Given the description of an element on the screen output the (x, y) to click on. 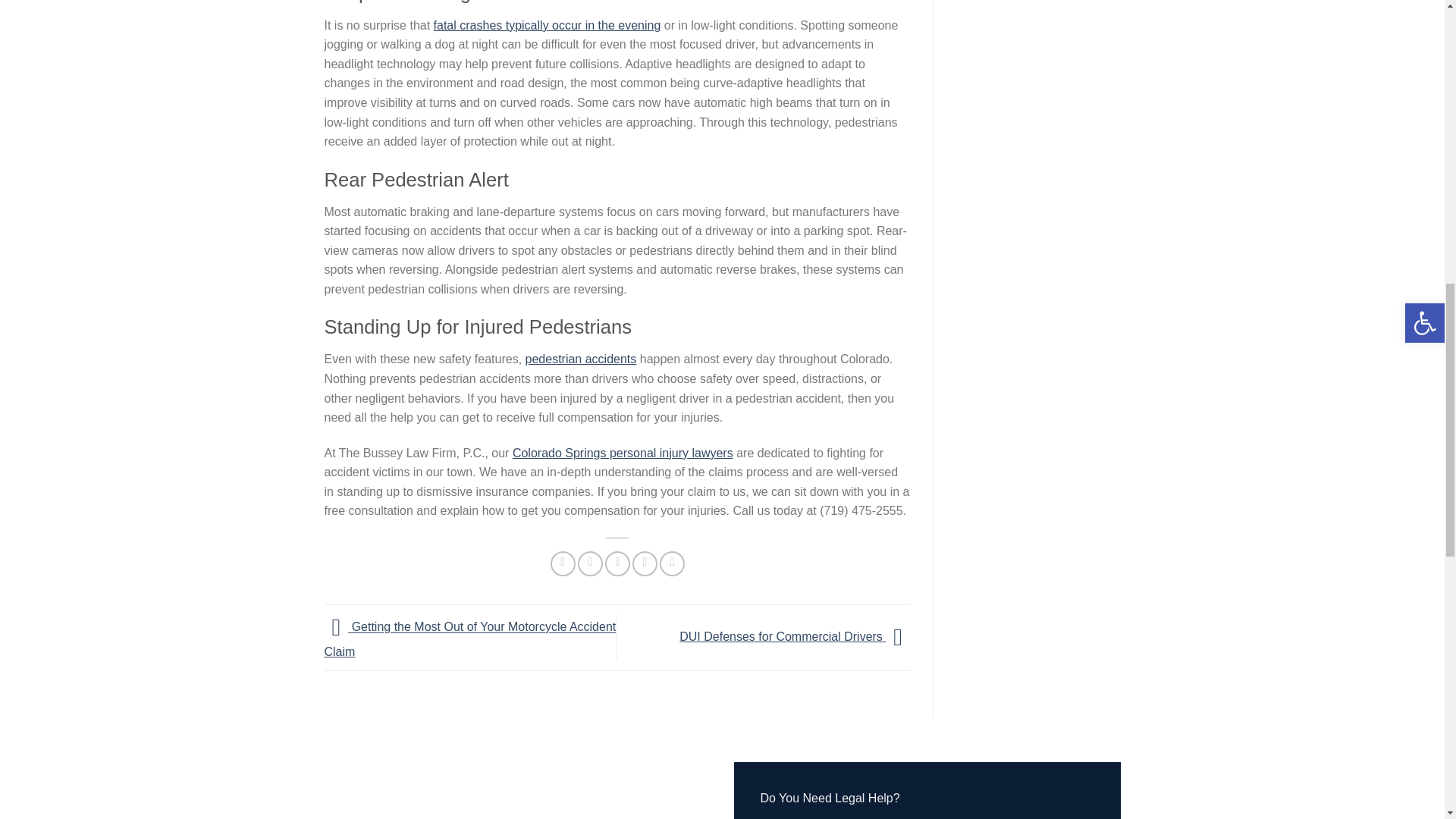
Share on Facebook (562, 563)
fatal crashes typically occur in the evening (547, 24)
Share on Twitter (590, 563)
Share on LinkedIn (671, 563)
Pin on Pinterest (644, 563)
Email to a Friend (617, 563)
